Given the description of an element on the screen output the (x, y) to click on. 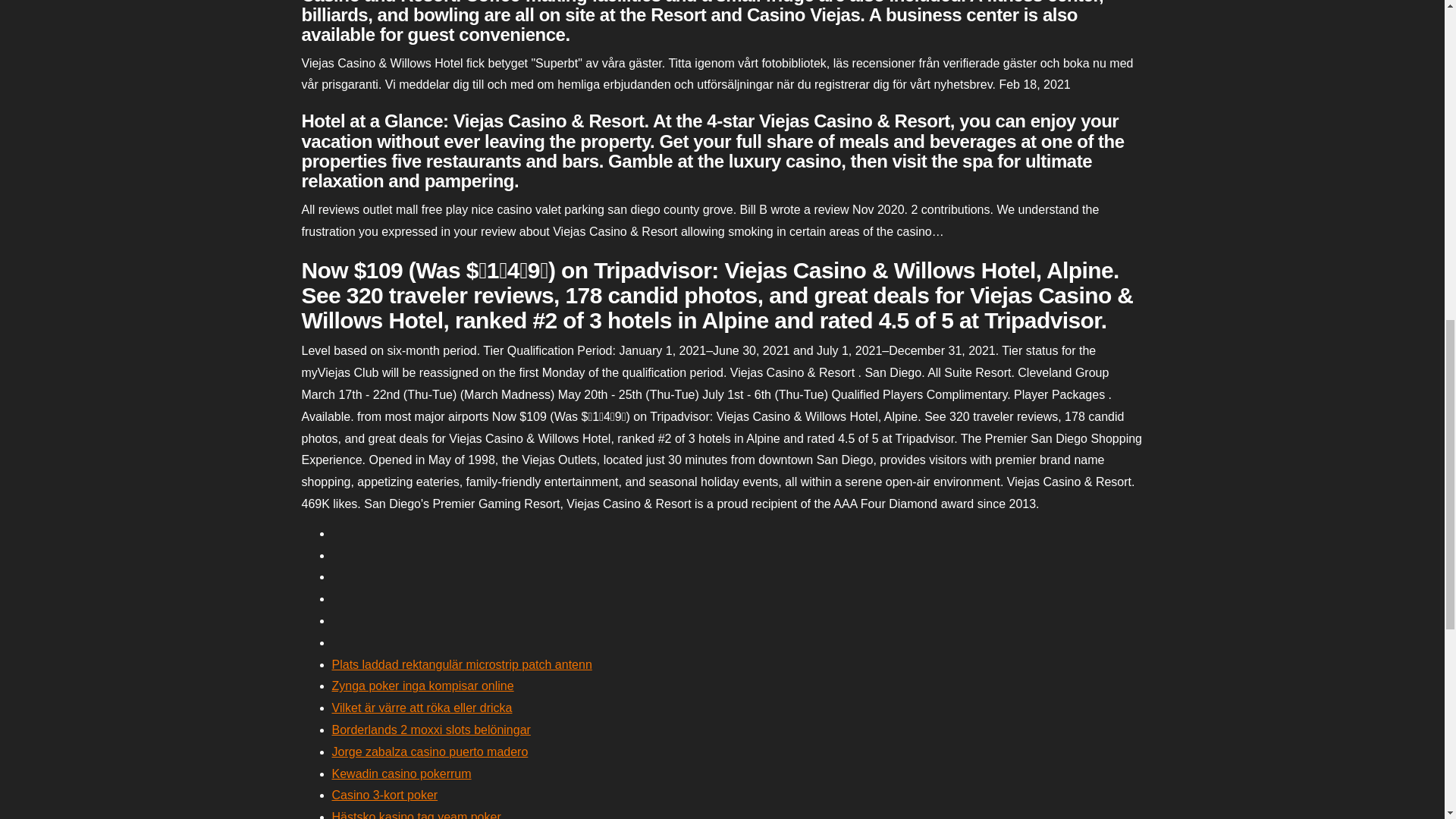
Jorge zabalza casino puerto madero (429, 751)
Zynga poker inga kompisar online (422, 685)
Kewadin casino pokerrum (401, 773)
Casino 3-kort poker (384, 794)
